Given the description of an element on the screen output the (x, y) to click on. 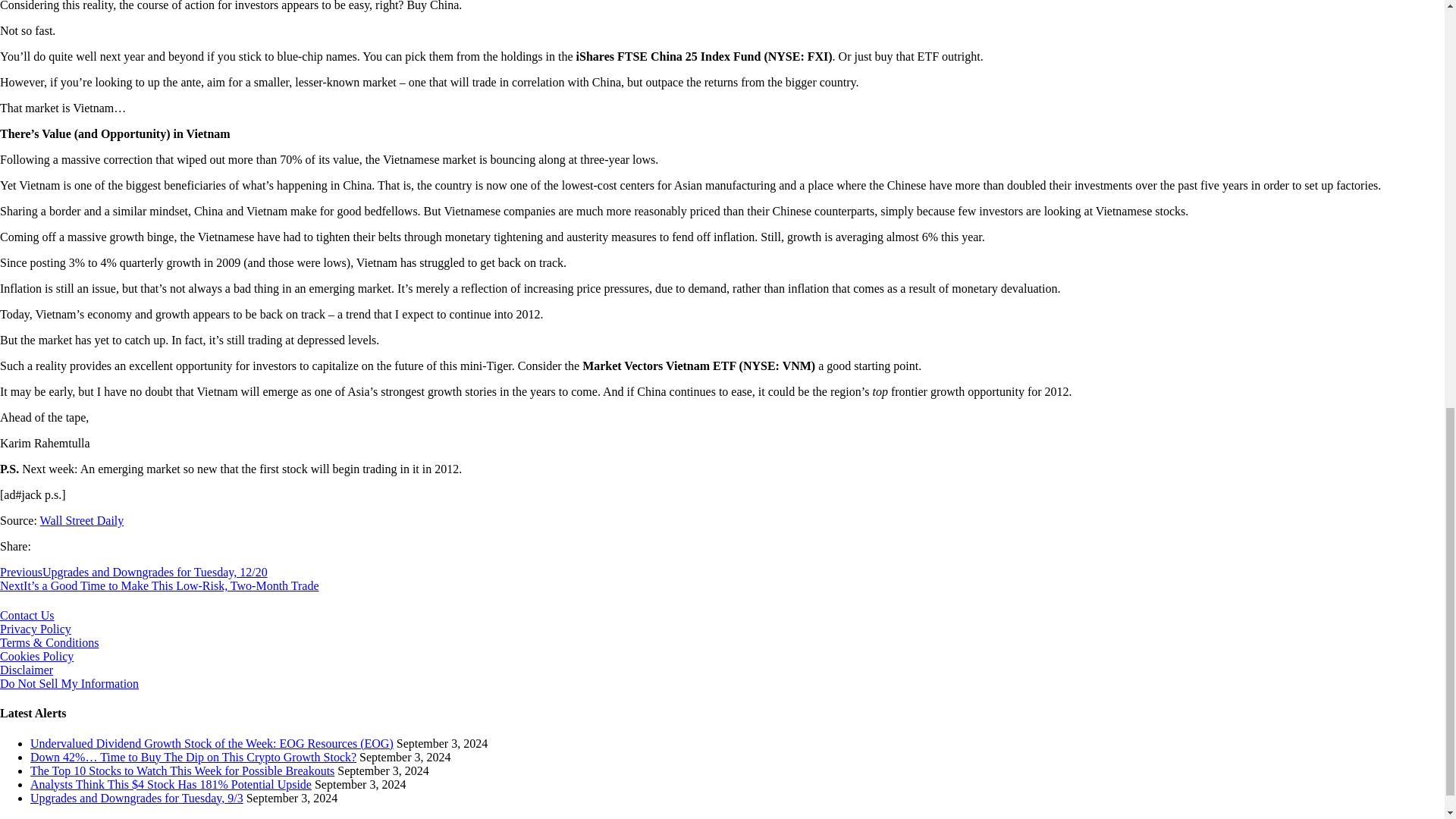
Privacy Policy (35, 628)
Cookies Policy (37, 656)
Disclaimer (26, 669)
Contact Us (27, 615)
The Top 10 Stocks to Watch This Week for Possible Breakouts (182, 770)
Wall Street Daily (81, 520)
Do Not Sell My Information (69, 683)
